Given the description of an element on the screen output the (x, y) to click on. 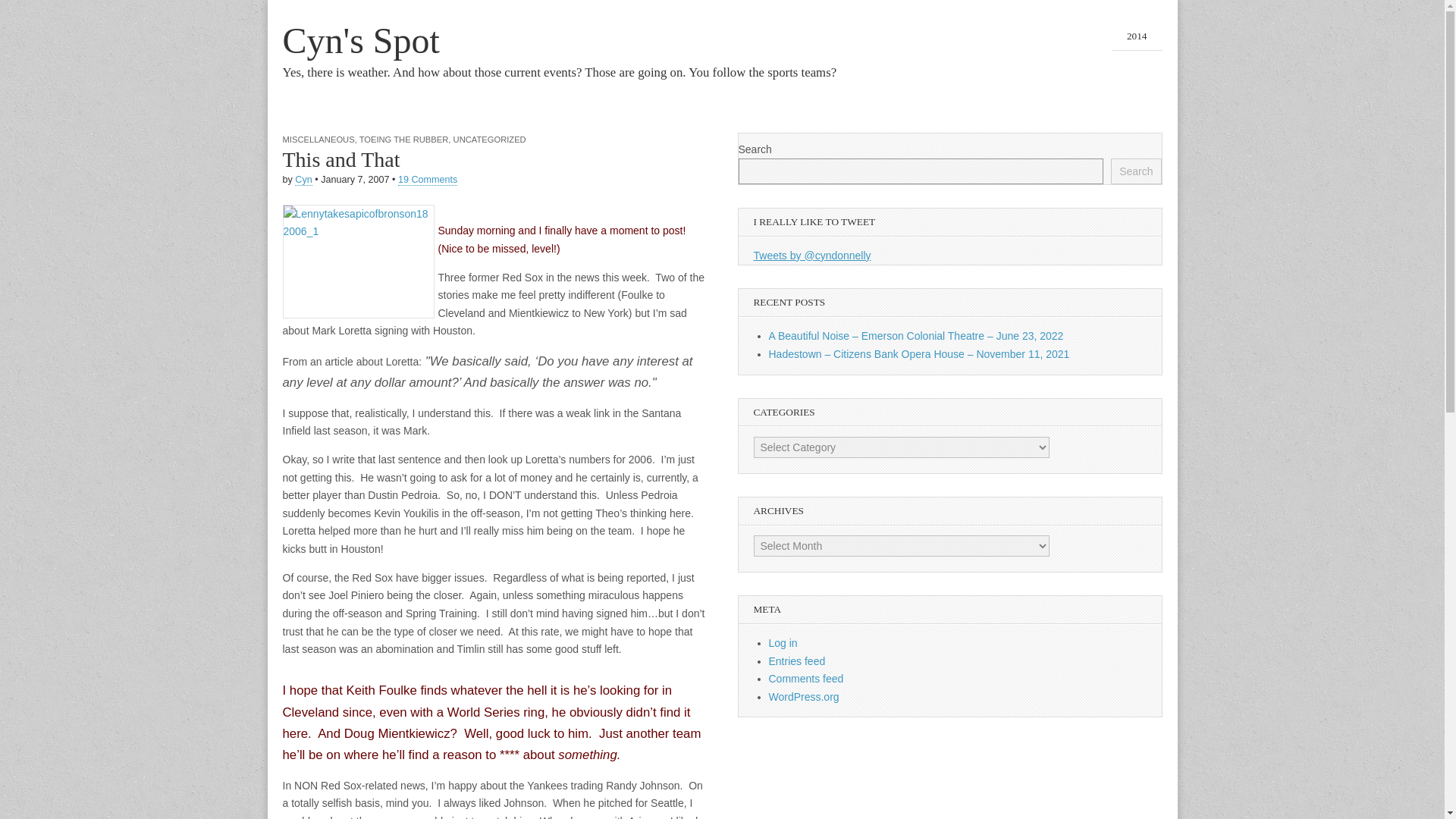
Search (1135, 171)
UNCATEGORIZED (488, 139)
WordPress.org (804, 696)
Comments feed (806, 678)
Posts by Cyn (303, 179)
TOEING THE RUBBER (403, 139)
Cyn's Spot (360, 40)
Cyn's Spot (360, 40)
Cyn (303, 179)
Entries feed (796, 661)
Log in (782, 643)
19 Comments (427, 179)
MISCELLANEOUS (317, 139)
